Given the description of an element on the screen output the (x, y) to click on. 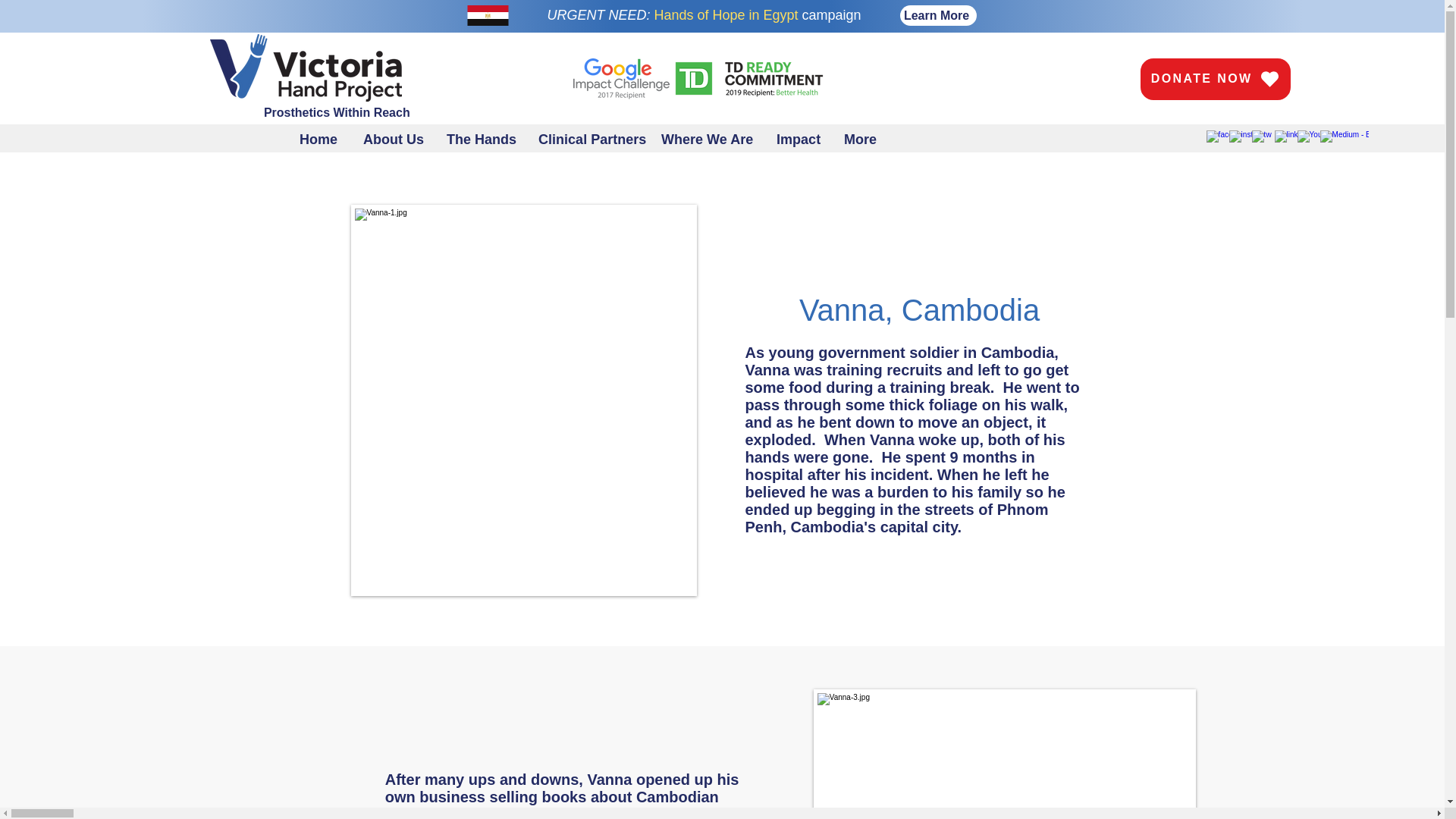
Where We Are (710, 137)
DONATE NOW (1215, 79)
Impact (801, 137)
Learn More (937, 14)
The Hands (485, 137)
URGENT NEED: Hands of Hope in Egypt campaign (703, 14)
About Us (397, 137)
Clinical Partners (592, 137)
Home (323, 137)
